Given the description of an element on the screen output the (x, y) to click on. 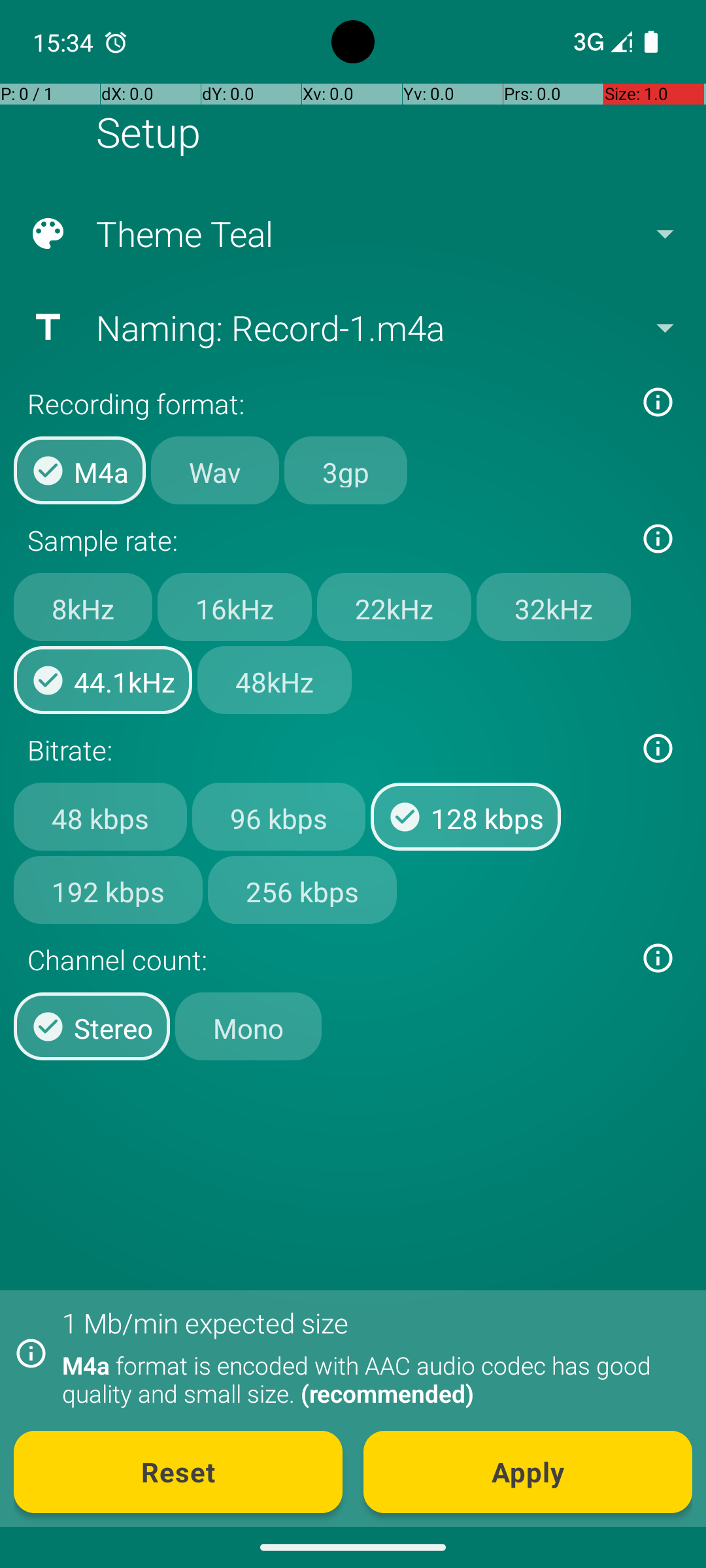
Clock notification: Missed alarm Element type: android.widget.ImageView (115, 41)
